Given the description of an element on the screen output the (x, y) to click on. 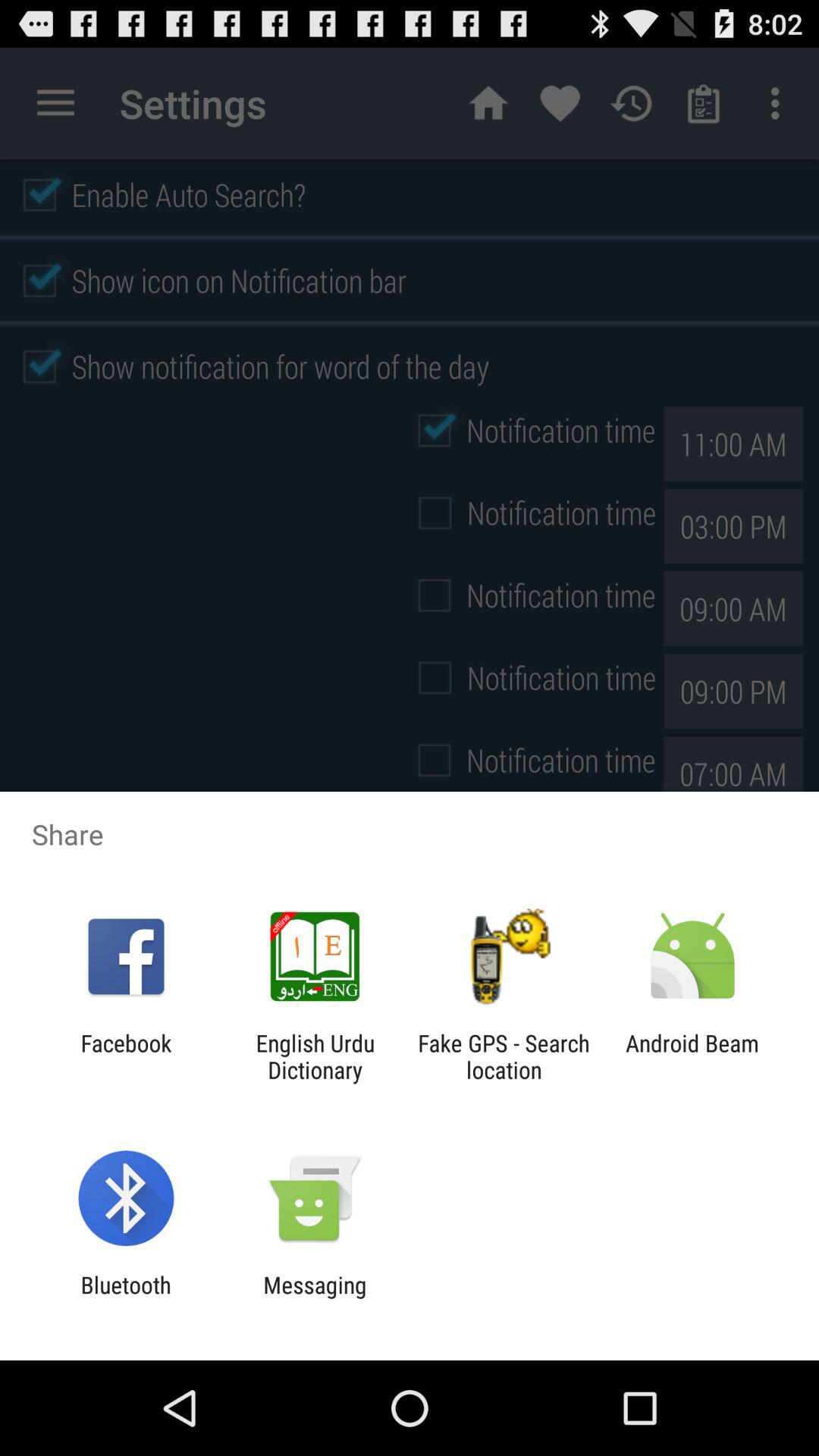
turn off the facebook app (125, 1056)
